Given the description of an element on the screen output the (x, y) to click on. 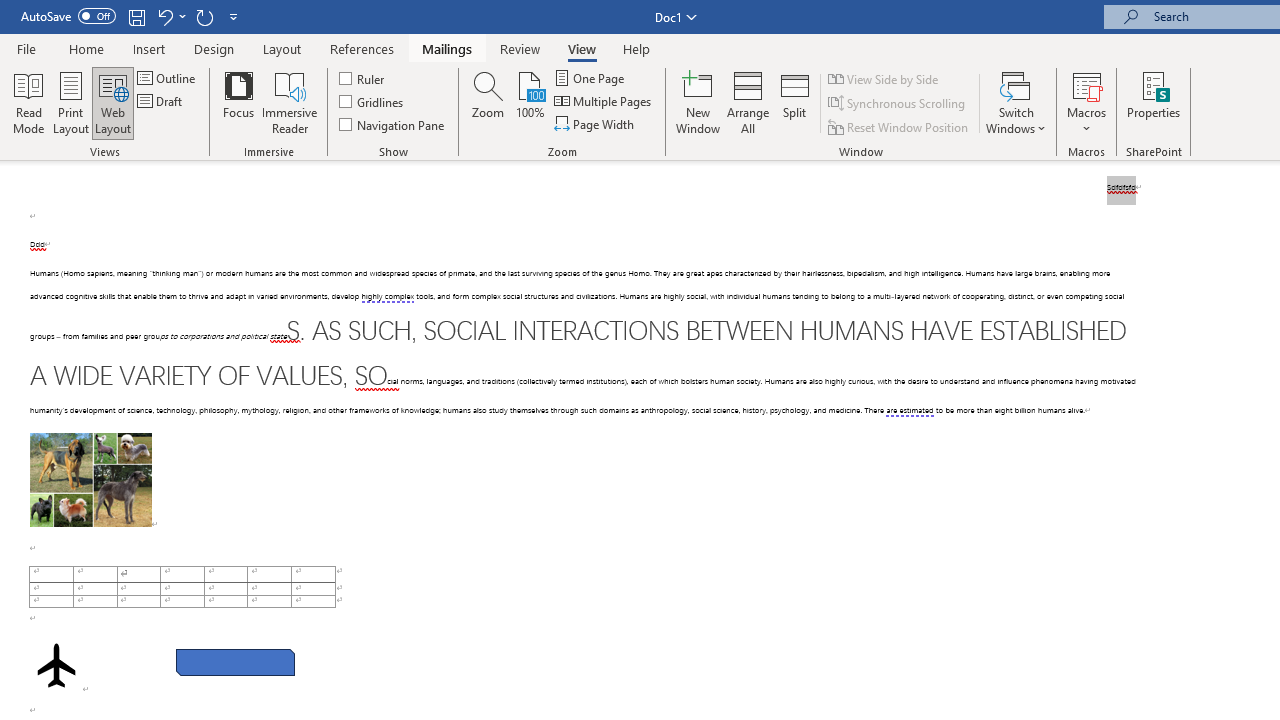
Repeat Paragraph Alignment (204, 15)
Navigation Pane (392, 124)
100% (529, 102)
Airplane with solid fill (56, 665)
Undo Paragraph Alignment (164, 15)
